Given the description of an element on the screen output the (x, y) to click on. 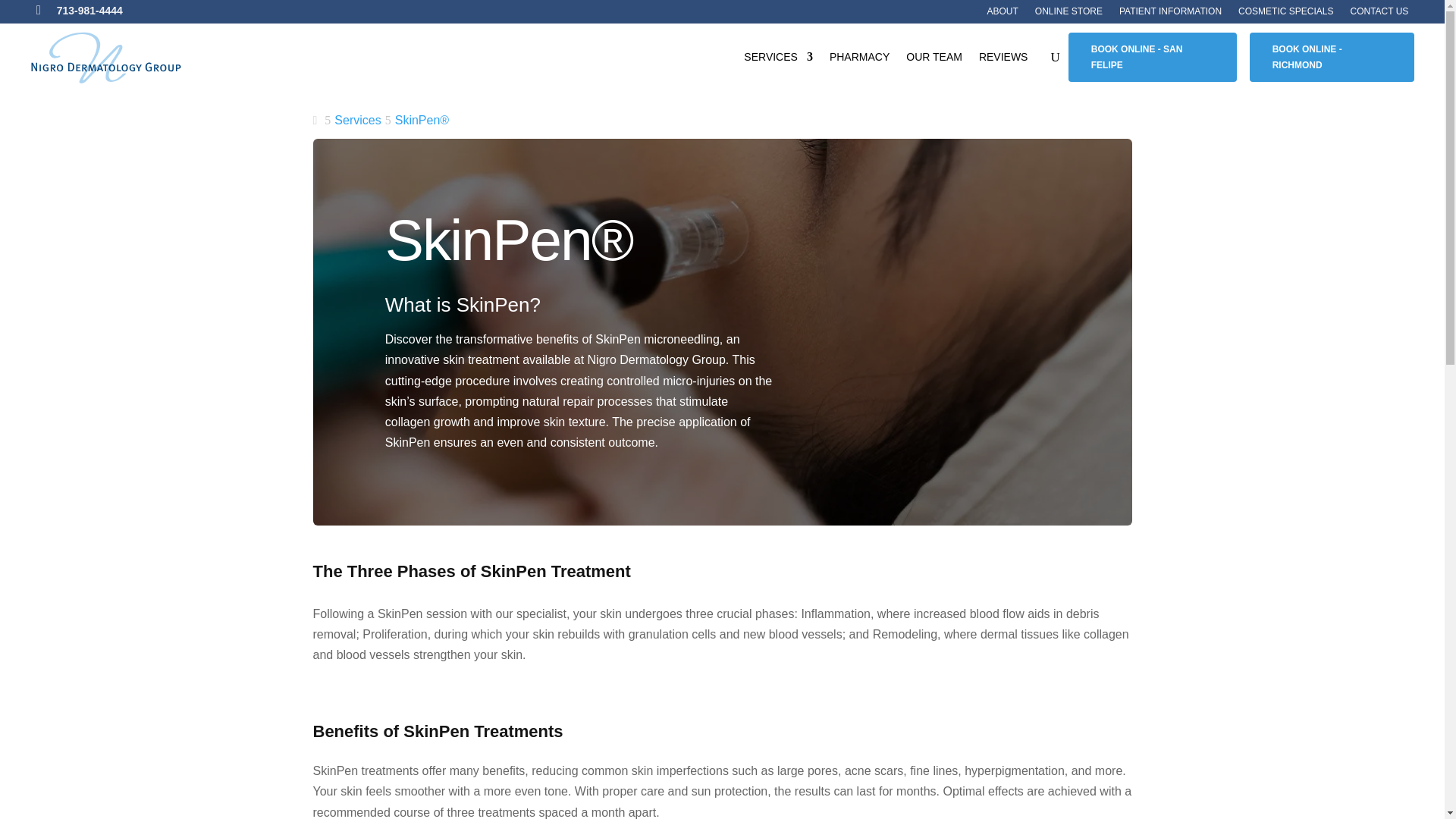
REVIEWS (1002, 59)
PATIENT INFORMATION (1170, 13)
SERVICES (778, 59)
ABOUT (1002, 13)
PHARMACY (859, 59)
Services (357, 120)
Nigro Dermatology Group (106, 57)
BOOK ONLINE - RICHMOND (1331, 56)
CONTACT US (1378, 13)
COSMETIC SPECIALS (1286, 13)
